Given the description of an element on the screen output the (x, y) to click on. 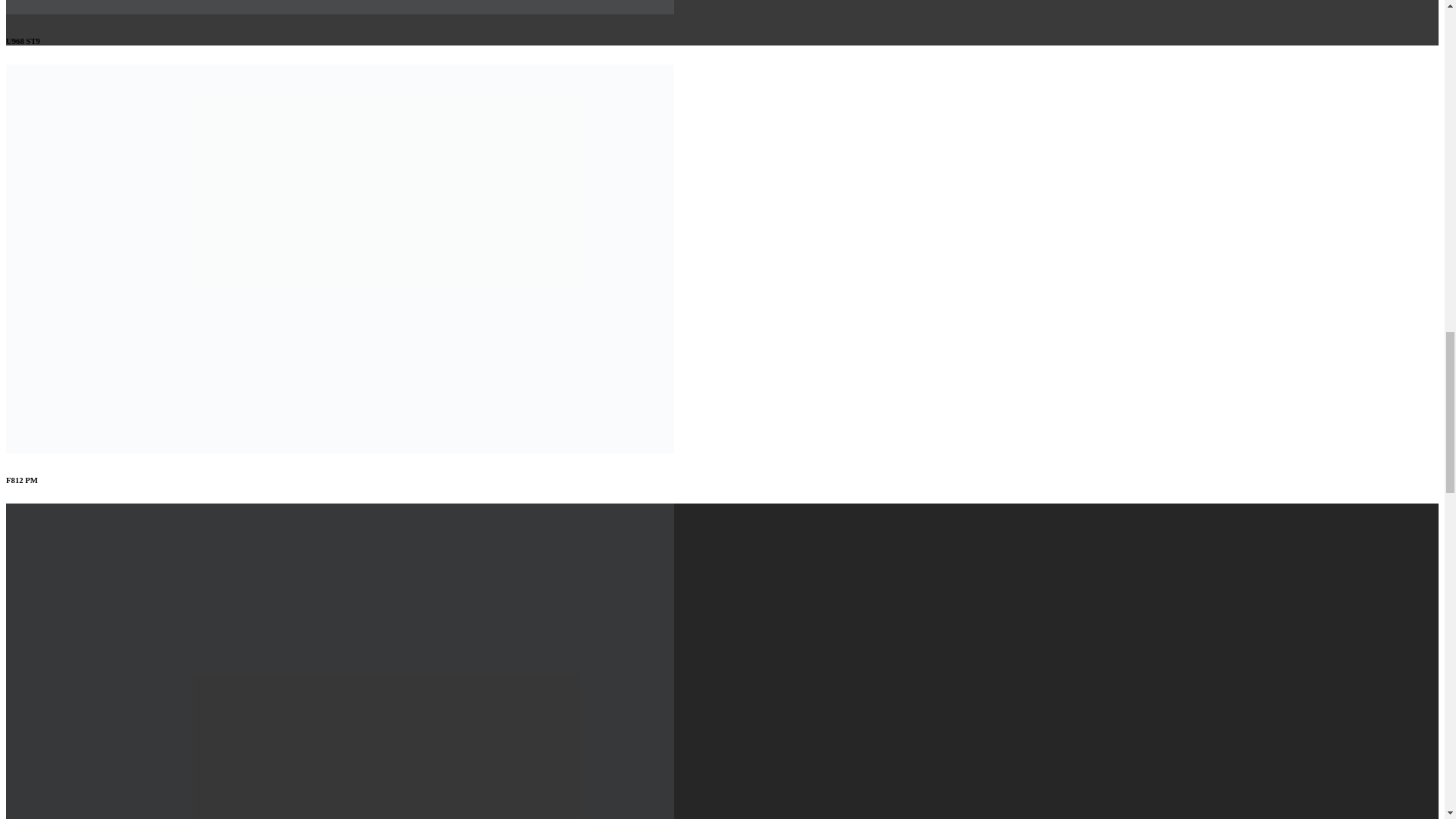
White Levanto Marble F812 PM (339, 449)
Carbon Grey U968 ST9 (339, 10)
Carbon Grey U968 ST9 (339, 7)
